Given the description of an element on the screen output the (x, y) to click on. 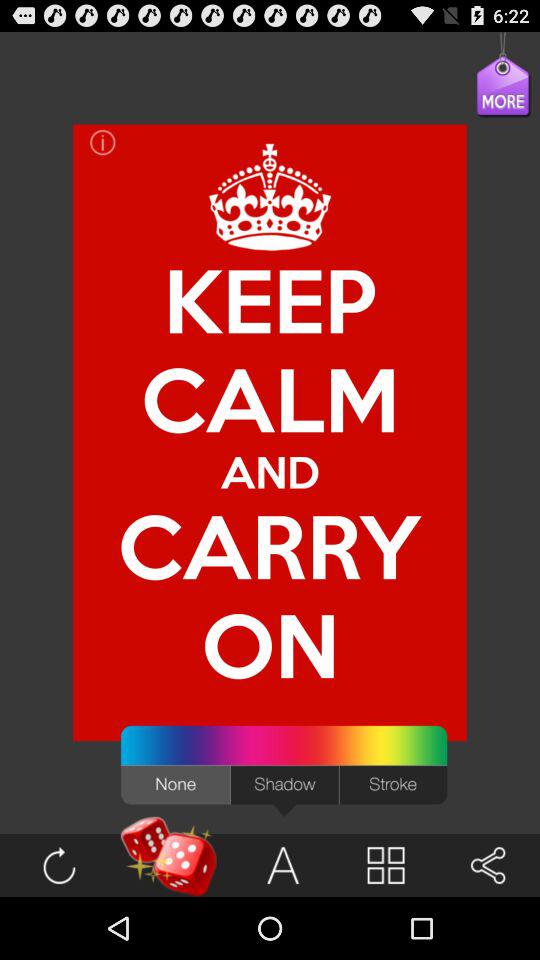
tap the keep item (269, 299)
